Given the description of an element on the screen output the (x, y) to click on. 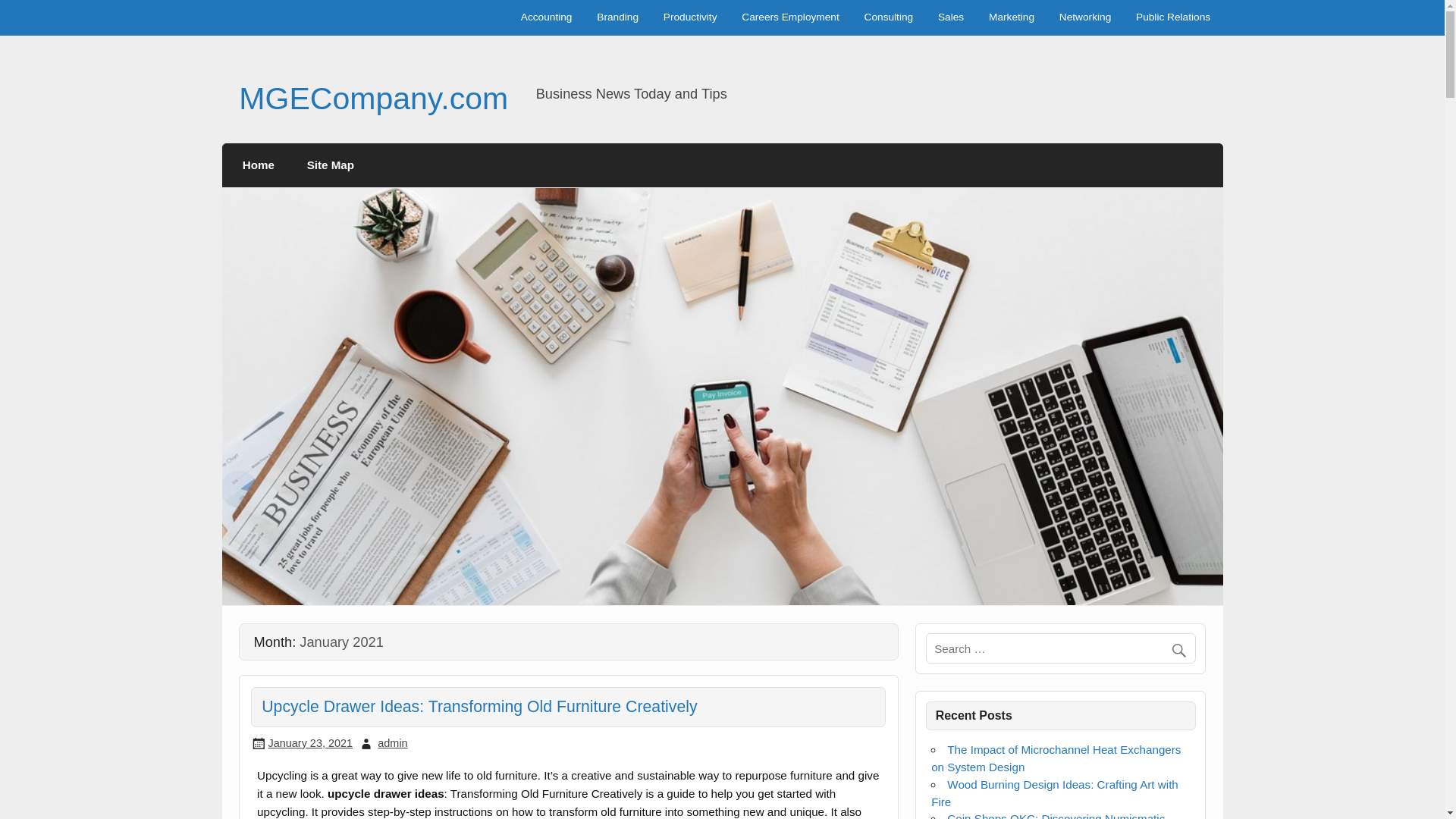
Networking (1084, 18)
Site Map (329, 165)
Consulting (887, 18)
View all posts by admin (392, 743)
admin (392, 743)
Marketing (1011, 18)
January 23, 2021 (309, 743)
Upcycle Drawer Ideas: Transforming Old Furniture Creatively (479, 706)
MGECompany.com (373, 98)
Sales (951, 18)
